Given the description of an element on the screen output the (x, y) to click on. 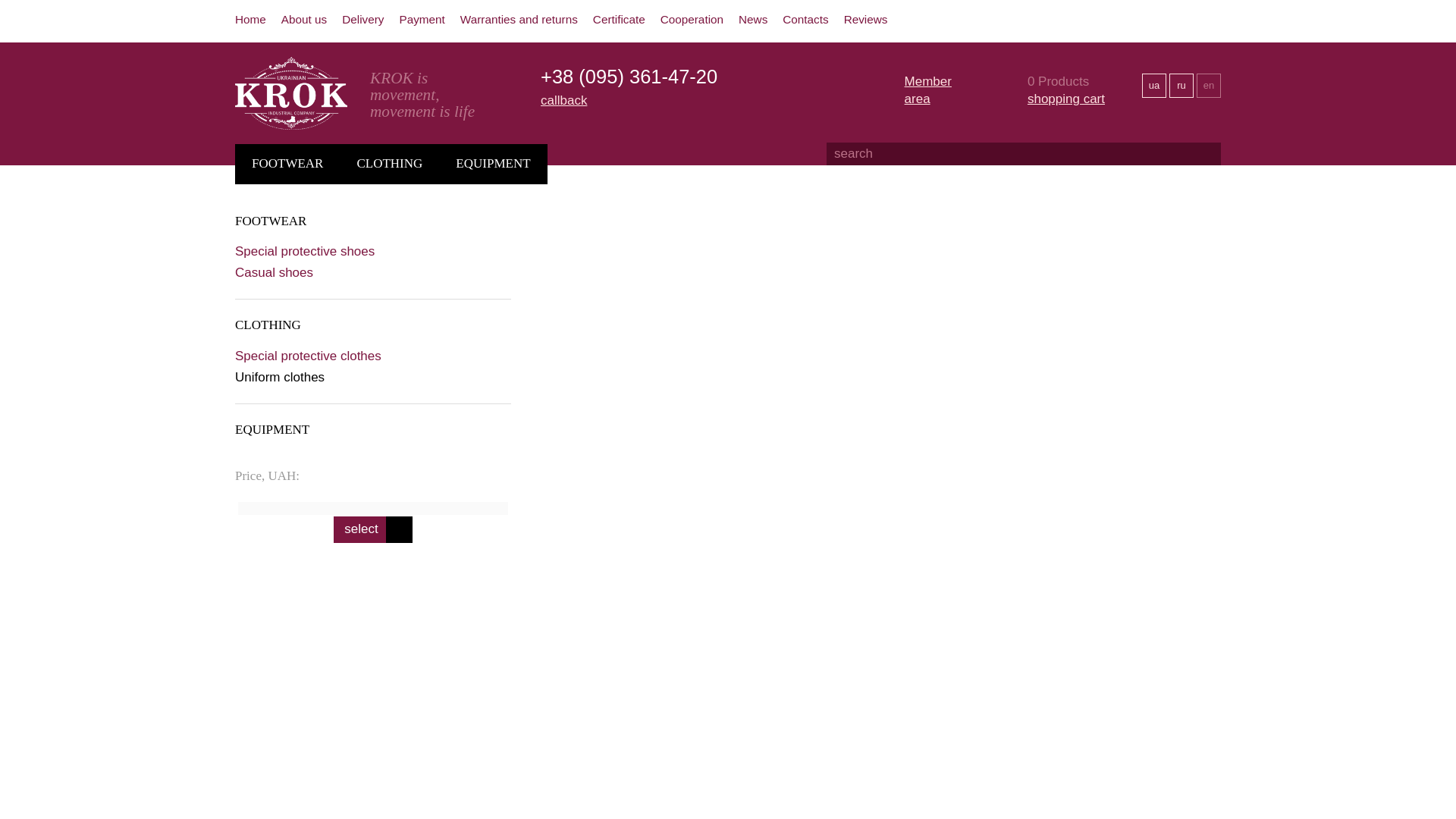
News (752, 19)
About us (303, 19)
Payment (421, 19)
Special protective clothes (319, 355)
Contacts (805, 19)
Callback (563, 100)
ua (1153, 85)
Special protective shoes (315, 251)
Reviews (866, 19)
FOOTWEAR (281, 220)
shopping cart (1066, 98)
ru (1181, 85)
CLOTHING (389, 163)
Warranties and returns (519, 19)
Delivery (363, 19)
